Given the description of an element on the screen output the (x, y) to click on. 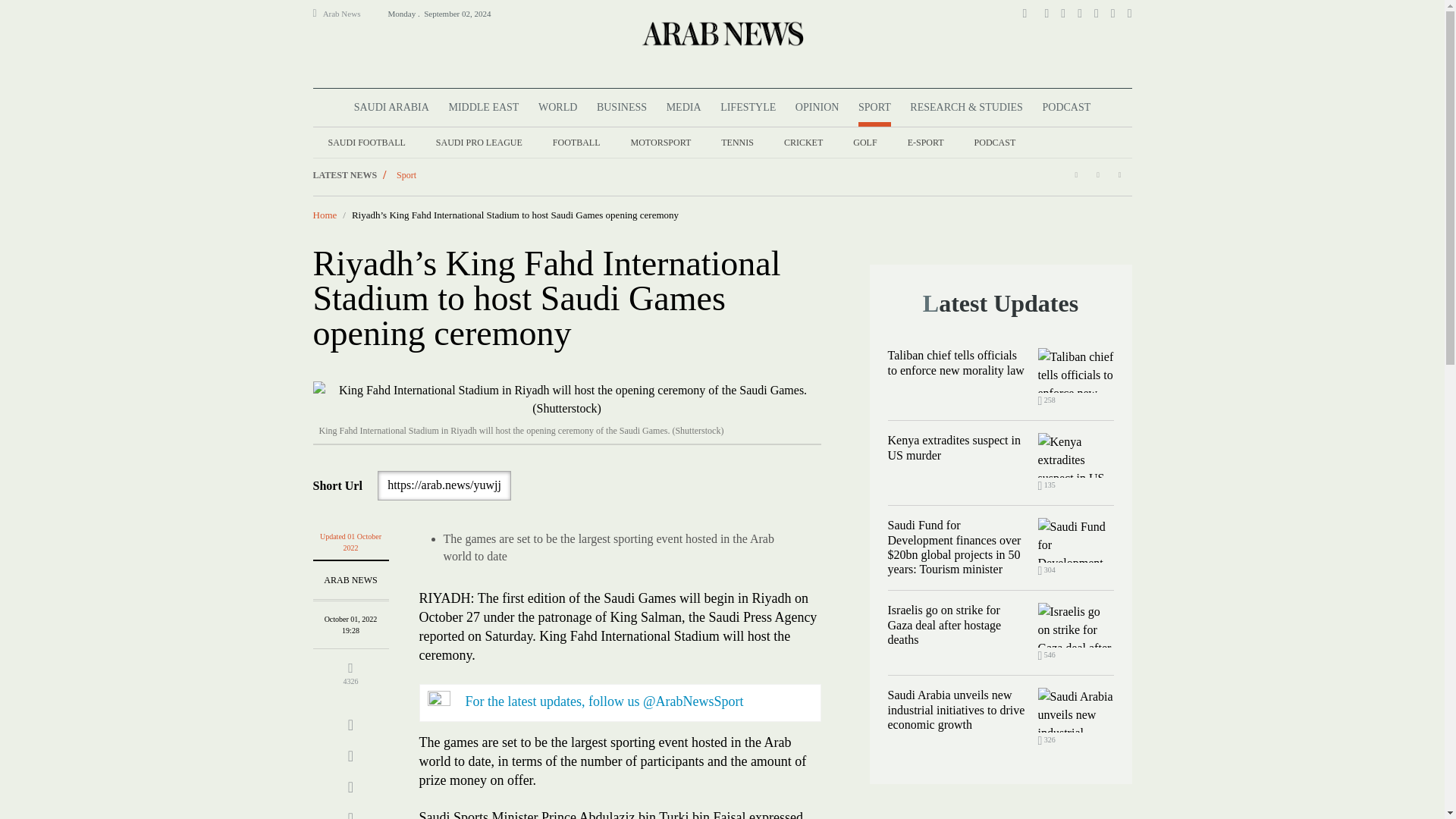
Arab News (348, 13)
Taliban chief tells officials to enforce new morality law (1074, 370)
Kenya extradites suspect in US murder (1074, 455)
Arabnews (721, 33)
Israelis go on strike for Gaza deal after hostage deaths (1074, 624)
